Given the description of an element on the screen output the (x, y) to click on. 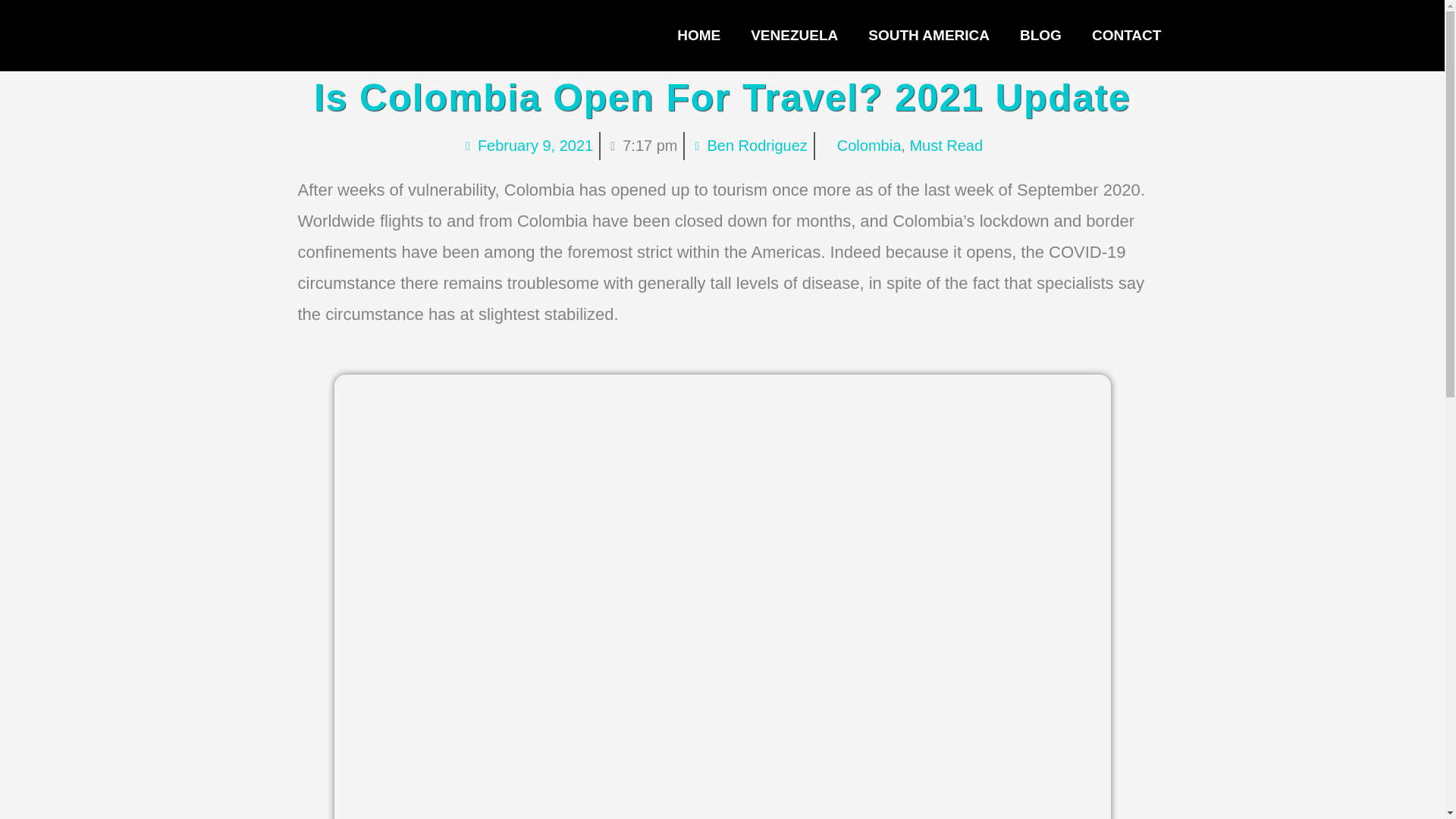
CONTACT (1126, 35)
SOUTH AMERICA (928, 35)
Must Read (945, 145)
Colombia (869, 145)
Ben Rodriguez (748, 145)
HOME (698, 35)
February 9, 2021 (526, 145)
VENEZUELA (794, 35)
BLOG (1040, 35)
